Given the description of an element on the screen output the (x, y) to click on. 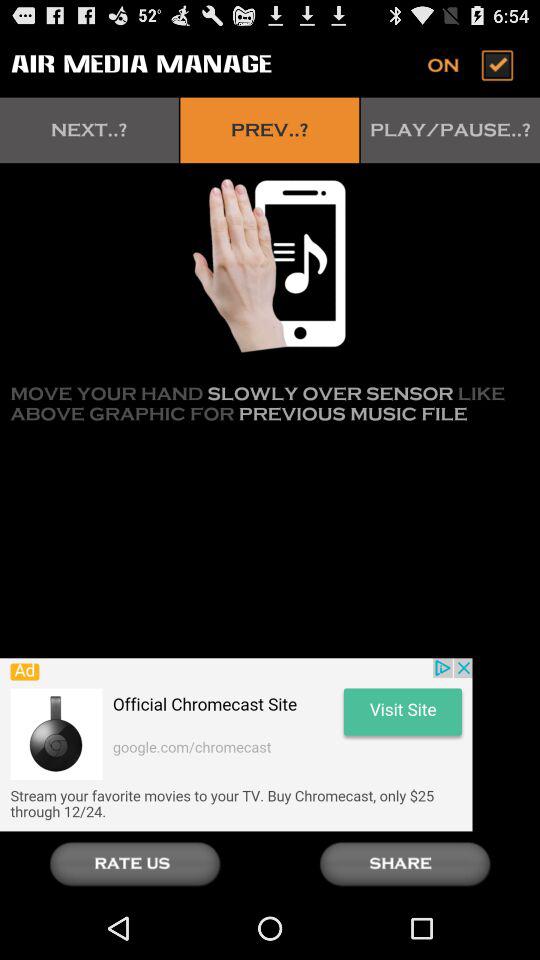
rate the app (135, 863)
